Given the description of an element on the screen output the (x, y) to click on. 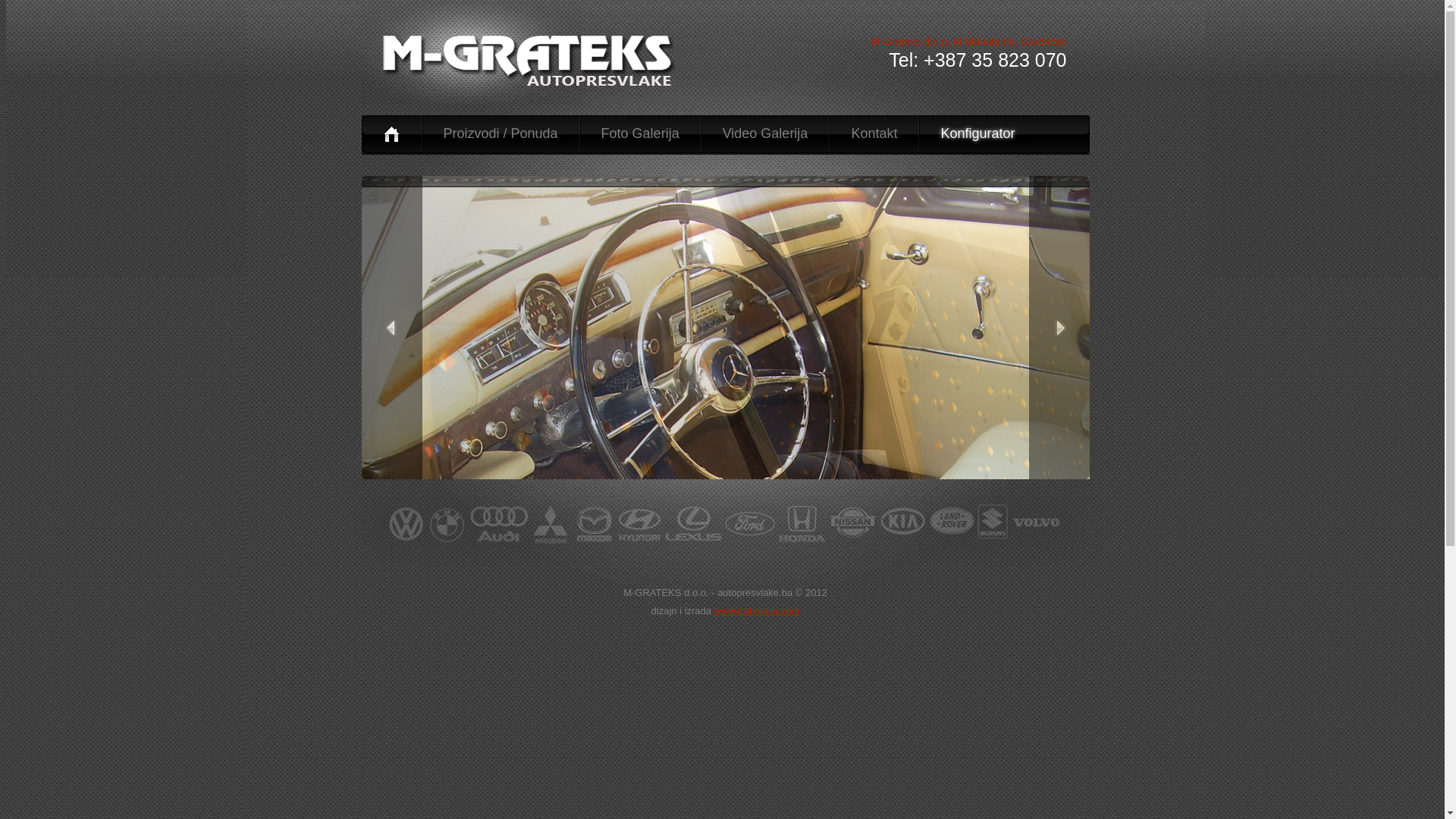
www.trabakula.com Element type: text (757, 610)
Home Element type: text (390, 133)
Kontakt Element type: text (873, 133)
Konfigurator Element type: text (976, 133)
prev Element type: text (390, 327)
next Element type: text (1058, 327)
logo Element type: text (532, 60)
Video Galerija Element type: text (764, 133)
Foto Galerija Element type: text (639, 133)
Proizvodi / Ponuda Element type: text (500, 133)
